Given the description of an element on the screen output the (x, y) to click on. 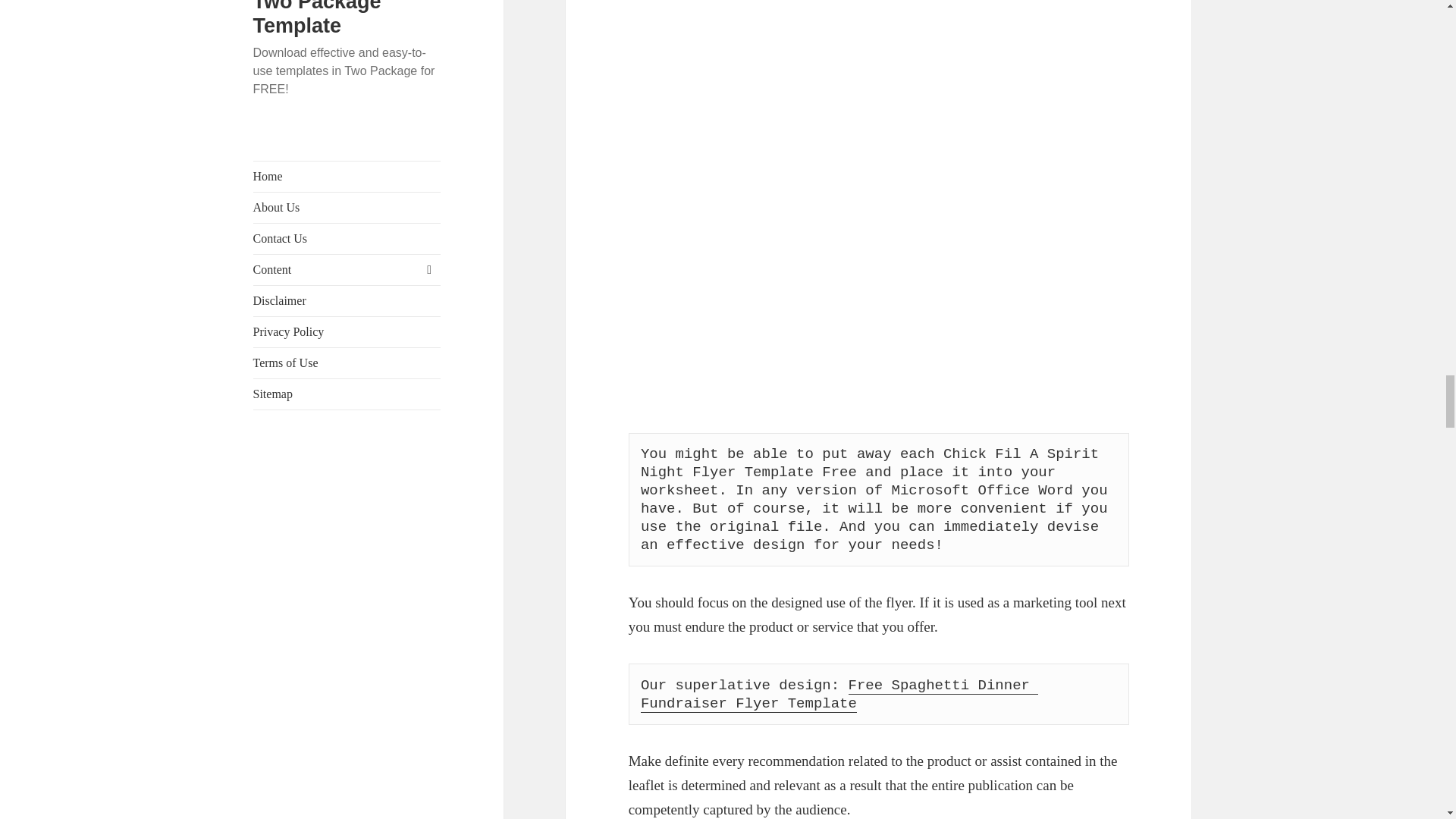
Free Spaghetti Dinner Fundraiser Flyer Template (839, 694)
